Given the description of an element on the screen output the (x, y) to click on. 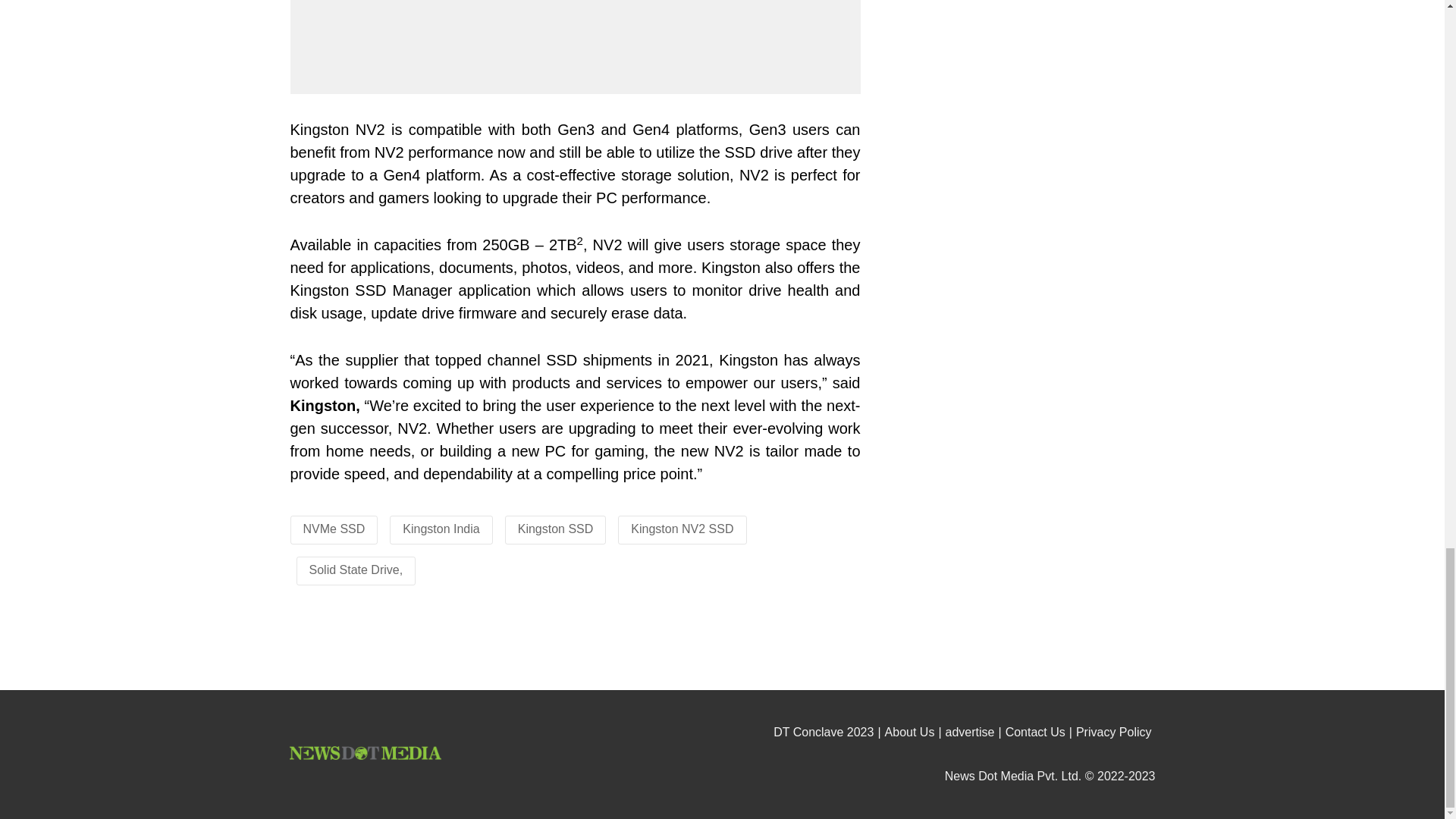
3rd party ad content (1015, 305)
NVMe SSD (333, 528)
3rd party ad content (722, 649)
Kingston India (441, 528)
Kingston NV2 SSD (681, 528)
3rd party ad content (1015, 74)
Kingston SSD (556, 528)
Solid State Drive, (355, 569)
